Given the description of an element on the screen output the (x, y) to click on. 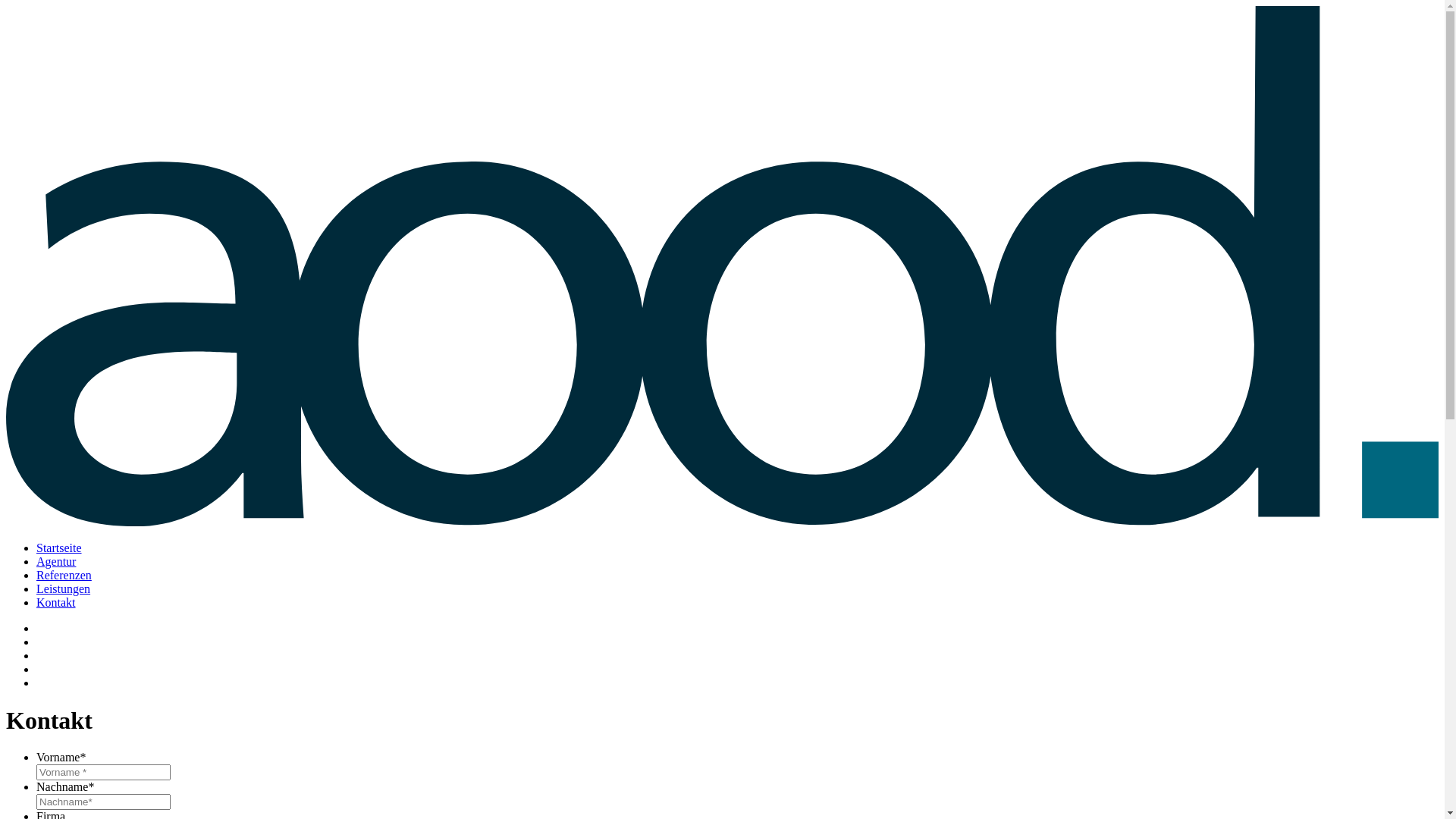
Leistungen Element type: text (63, 588)
Startseite Element type: text (58, 547)
Agentur Element type: text (55, 561)
Referenzen Element type: text (63, 574)
Kontakt Element type: text (55, 602)
